Given the description of an element on the screen output the (x, y) to click on. 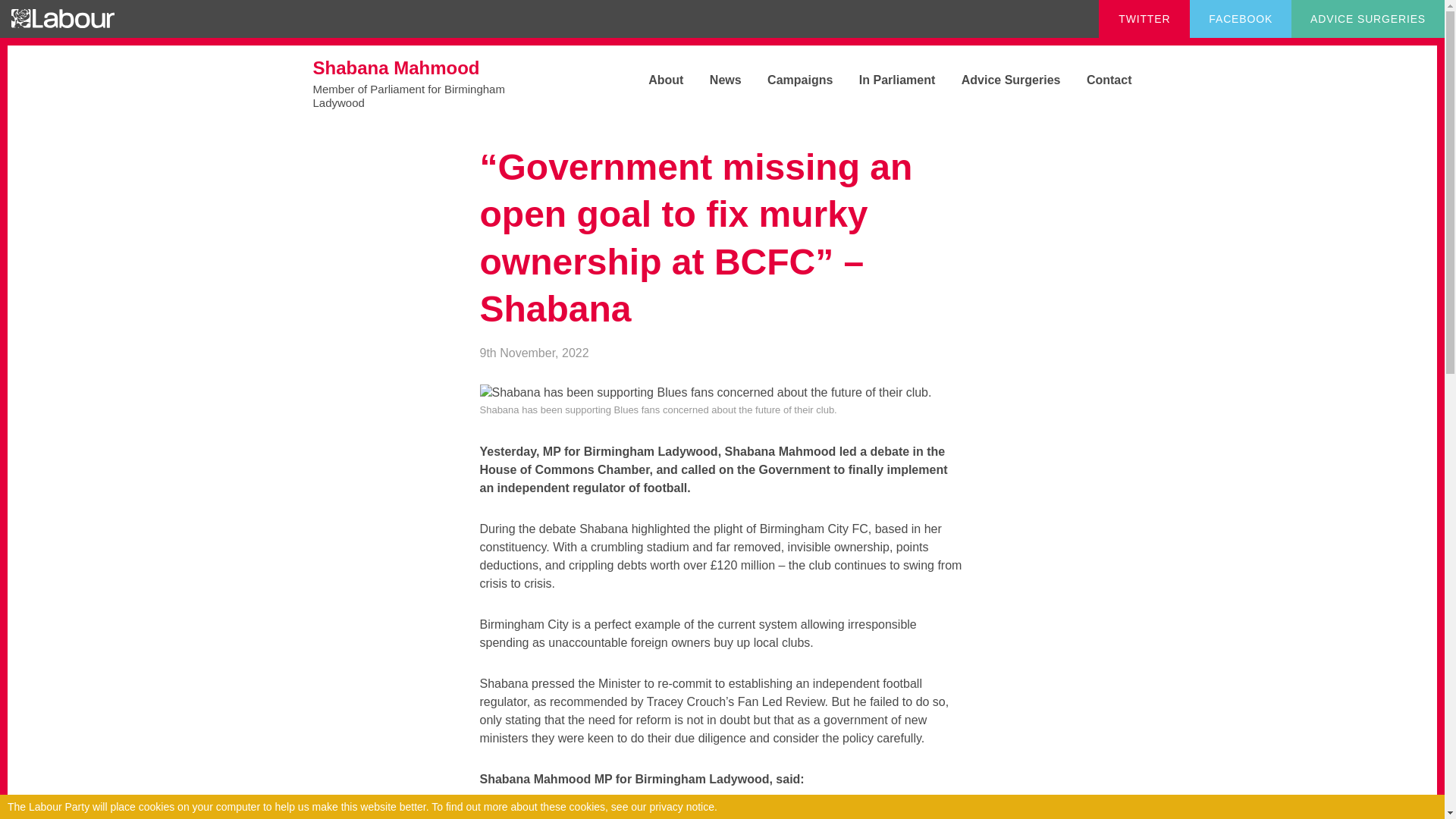
Advice Surgeries (1000, 79)
Contact (1098, 79)
News (714, 79)
TWITTER (1144, 18)
About (654, 79)
FACEBOOK (1240, 18)
In Parliament (426, 82)
Campaigns (884, 79)
